Given the description of an element on the screen output the (x, y) to click on. 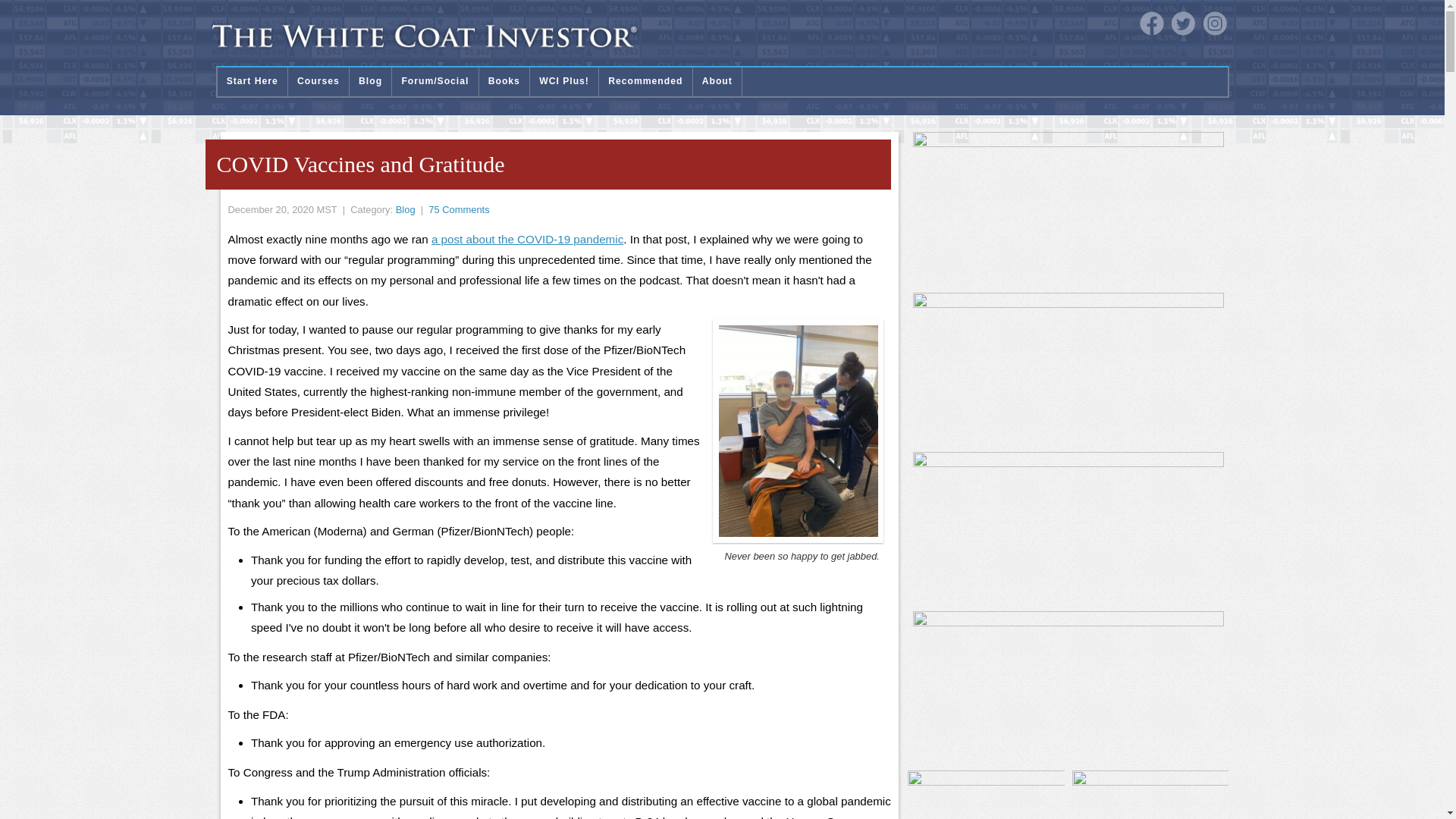
WCI Plus! (563, 81)
Twitter (1182, 23)
Courses (318, 81)
Facebook (1151, 23)
Instagram (1214, 23)
Mountain Standard Time (325, 209)
Books (504, 81)
Blog (370, 81)
Start Here (251, 81)
